Given the description of an element on the screen output the (x, y) to click on. 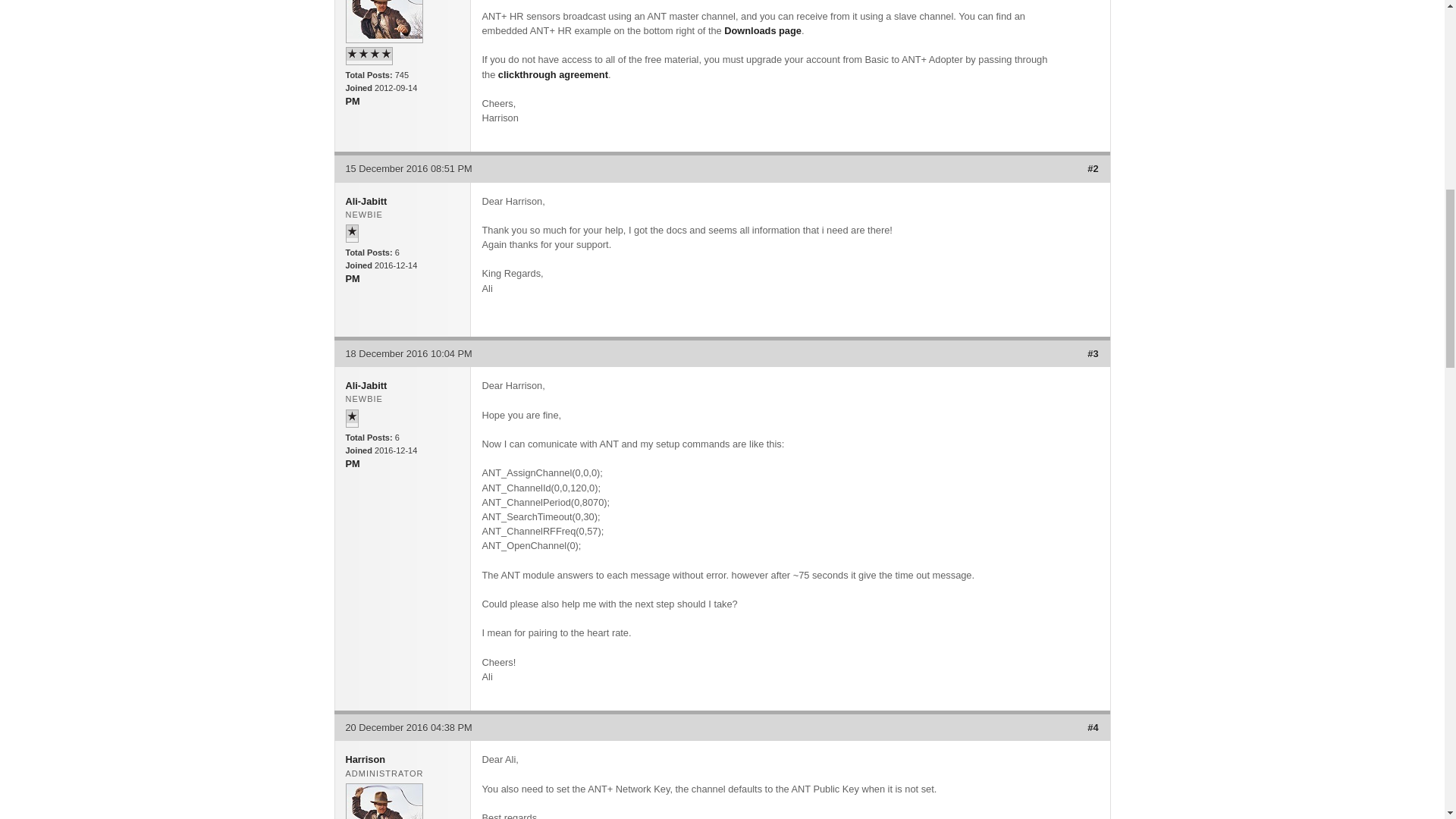
Permalink to this post (1092, 353)
Permalink to this post (1092, 727)
Permalink to this post (1092, 168)
